Given the description of an element on the screen output the (x, y) to click on. 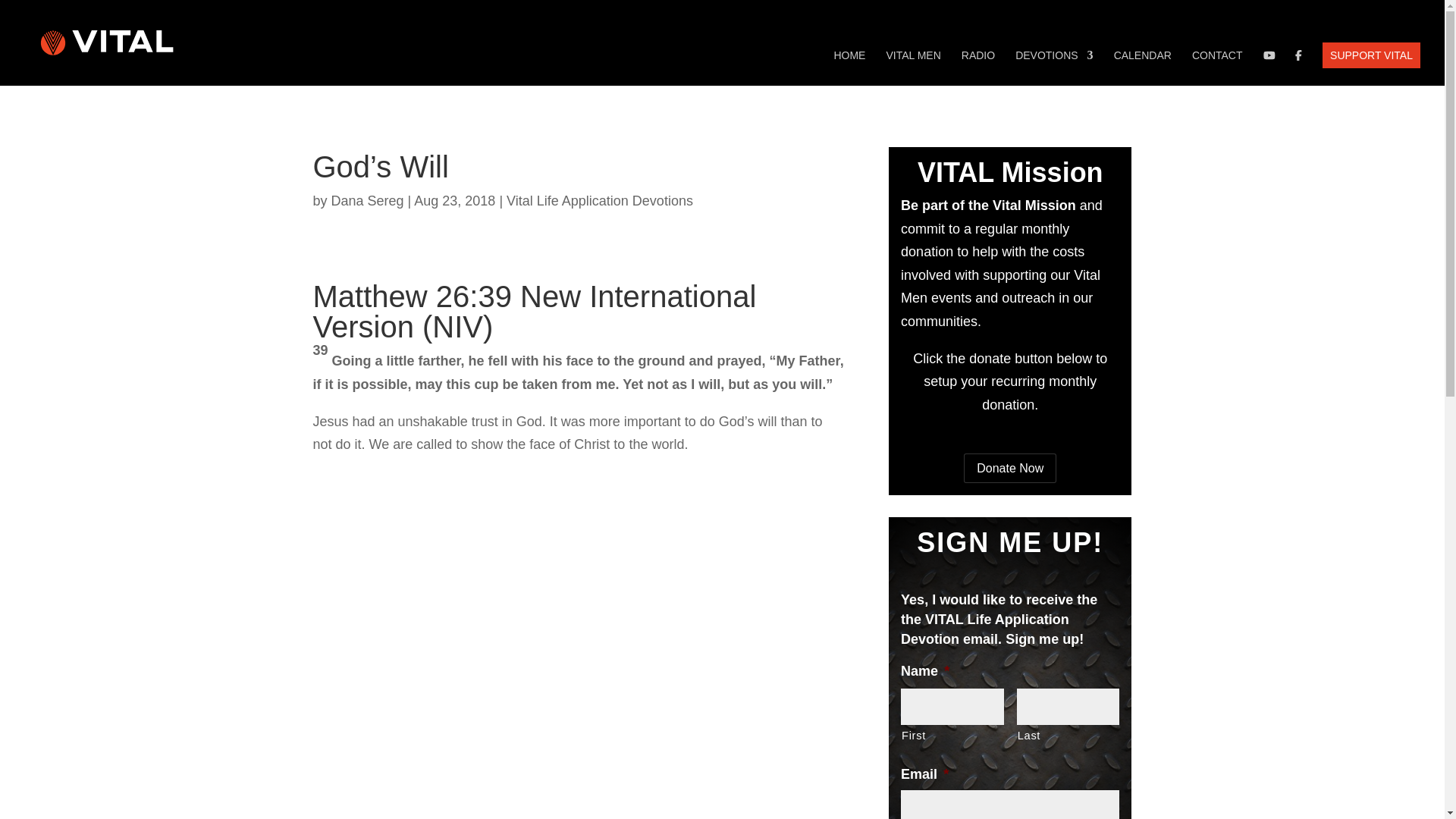
Vital Life Application Devotions (599, 200)
RADIO (977, 67)
Donate Now (1010, 468)
VITAL MEN (912, 67)
CONTACT (1217, 67)
CALENDAR (1142, 67)
Dana Sereg (367, 200)
HOME (848, 67)
Posts by Dana Sereg (367, 200)
SUPPORT VITAL (1371, 54)
DEVOTIONS (1053, 67)
